Given the description of an element on the screen output the (x, y) to click on. 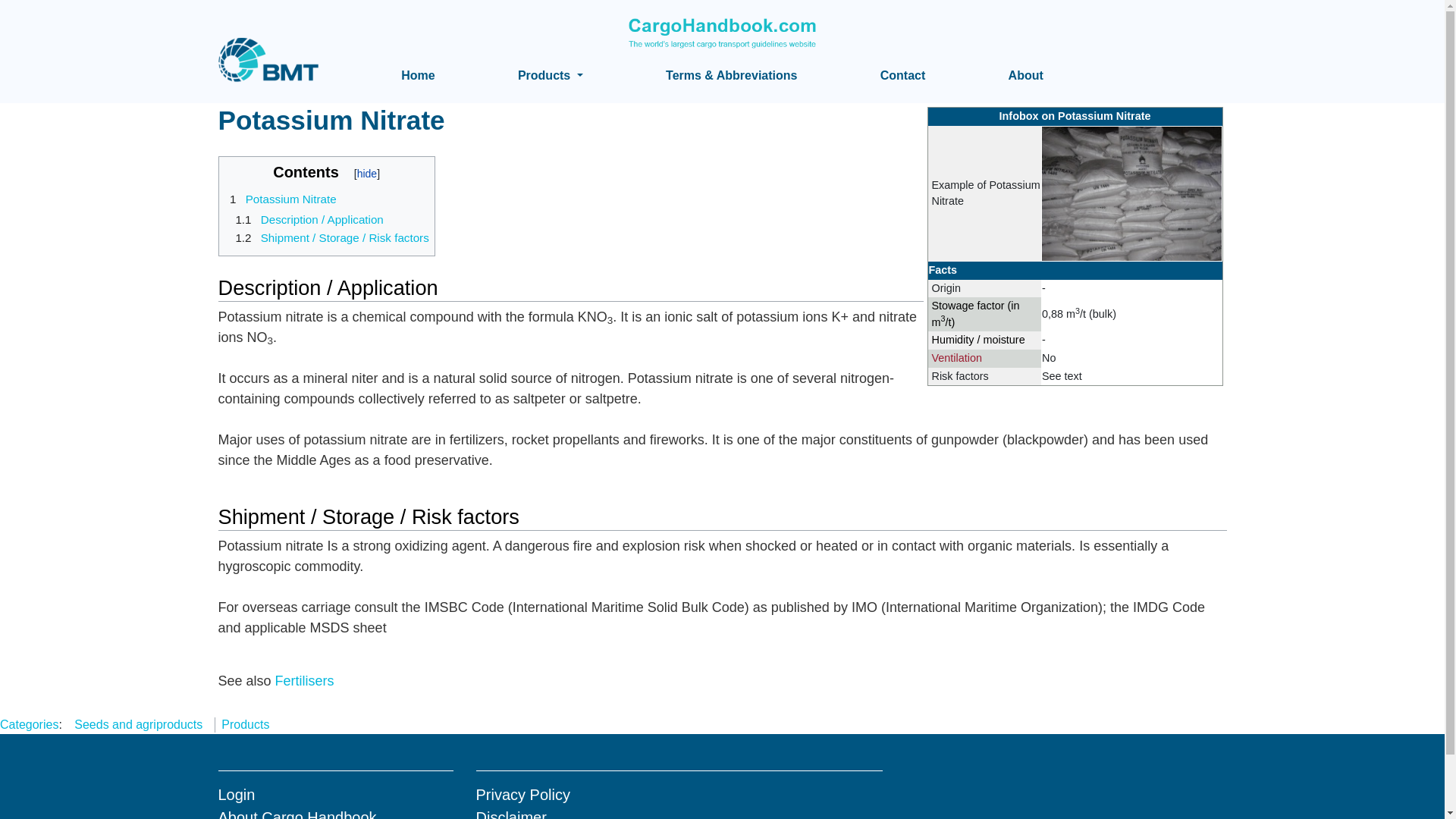
Category:Seeds and agriproducts (138, 724)
1 Potassium Nitrate (280, 198)
Products (550, 74)
Ventilation (956, 357)
Category:Products (245, 724)
Seeds and agriproducts (138, 724)
Products (245, 724)
Fertilisers (304, 680)
About Cargo Handbook (297, 814)
About (1026, 75)
